Given the description of an element on the screen output the (x, y) to click on. 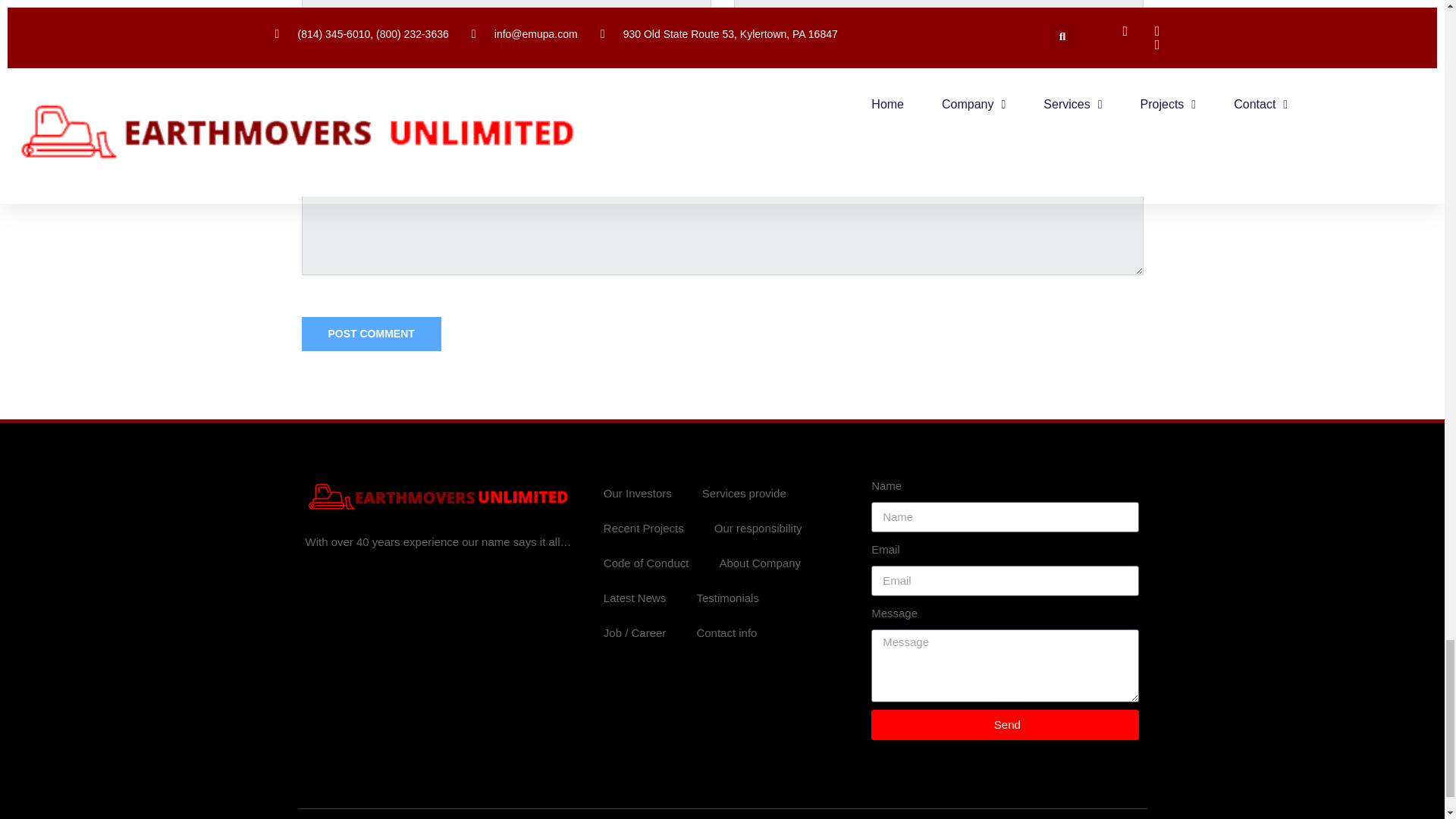
Post Comment (371, 333)
